Given the description of an element on the screen output the (x, y) to click on. 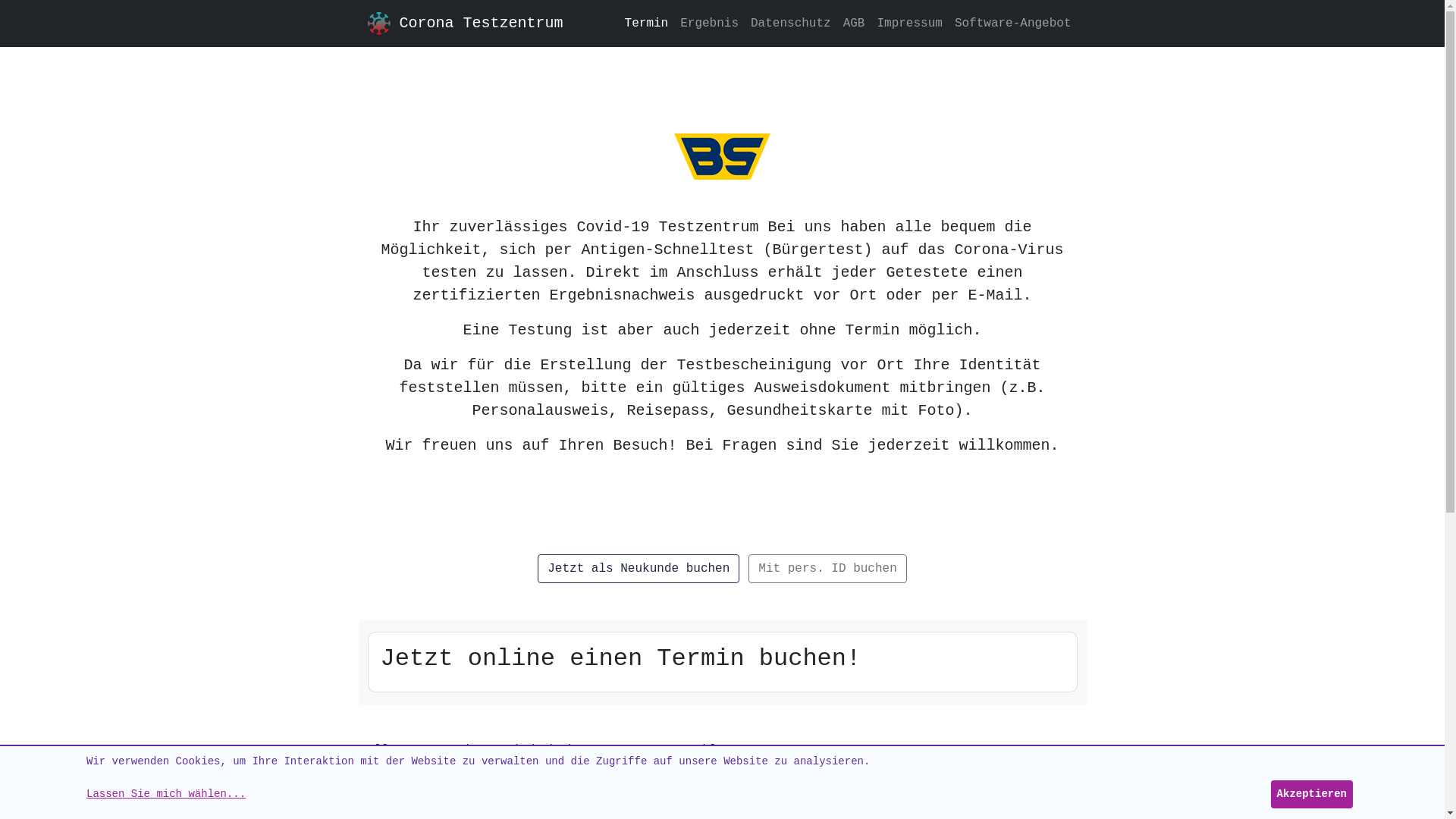
Ergebnis Element type: text (709, 23)
Termin Element type: text (646, 23)
AGB Element type: text (854, 23)
Corona Testzentrum Element type: text (480, 23)
Software-Angebot Element type: text (1012, 23)
Impressum Element type: text (908, 23)
Akzeptieren Element type: text (1311, 794)
Jetzt als Neukunde buchen Element type: text (638, 568)
Mit pers. ID buchen Element type: text (827, 568)
Datenschutz Element type: text (790, 23)
